Given the description of an element on the screen output the (x, y) to click on. 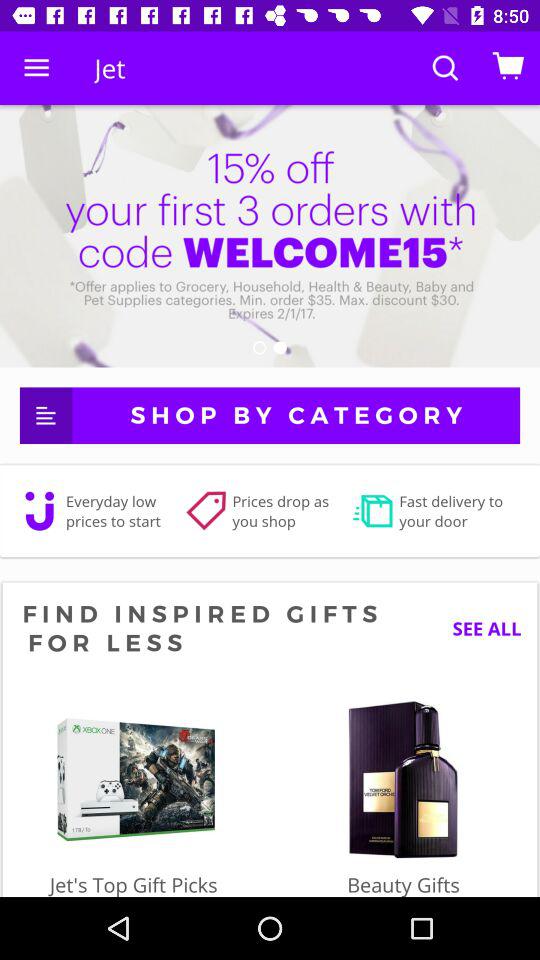
choose item to the left of the jet icon (36, 68)
